Given the description of an element on the screen output the (x, y) to click on. 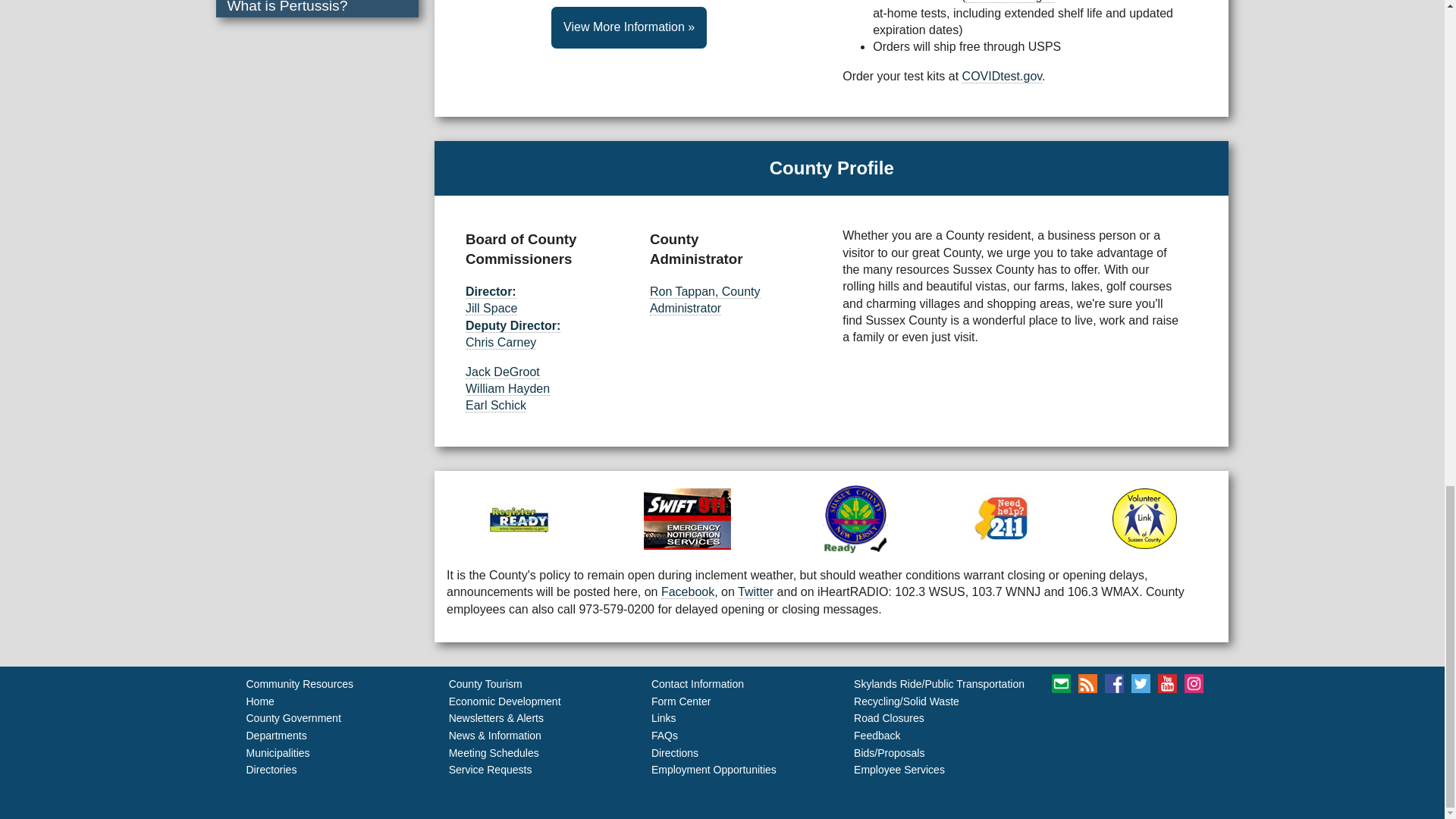
Follow us on Twitter (1099, 728)
Register Ready - NJ Special Needs Registry (557, 537)
Visit our Facebook page (1126, 703)
Visit our YouTube channel (1127, 728)
Visit our Instagram page (1153, 728)
Visit our RSS feed (1163, 682)
Register for Community Alerts (749, 537)
Sign Up for emails from Sussex County (1090, 682)
